Given the description of an element on the screen output the (x, y) to click on. 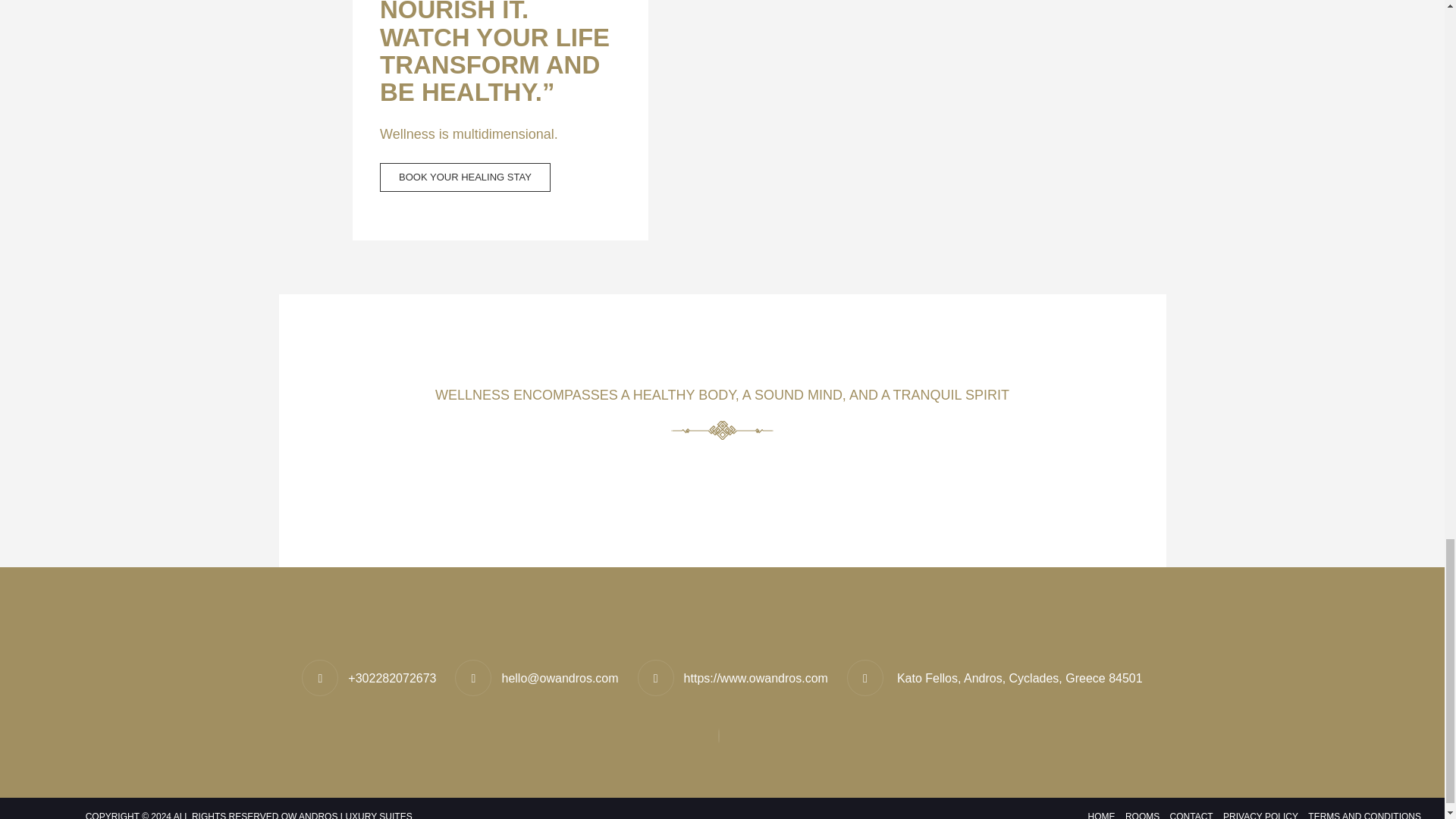
TERMS AND CONDITIONS (1362, 814)
booking.owandros.com (465, 176)
PRIVACY POLICY (1260, 814)
ROOMS (1142, 814)
CONTACT (1191, 814)
HOME (1101, 814)
BOOK YOUR HEALING STAY (465, 176)
